Given the description of an element on the screen output the (x, y) to click on. 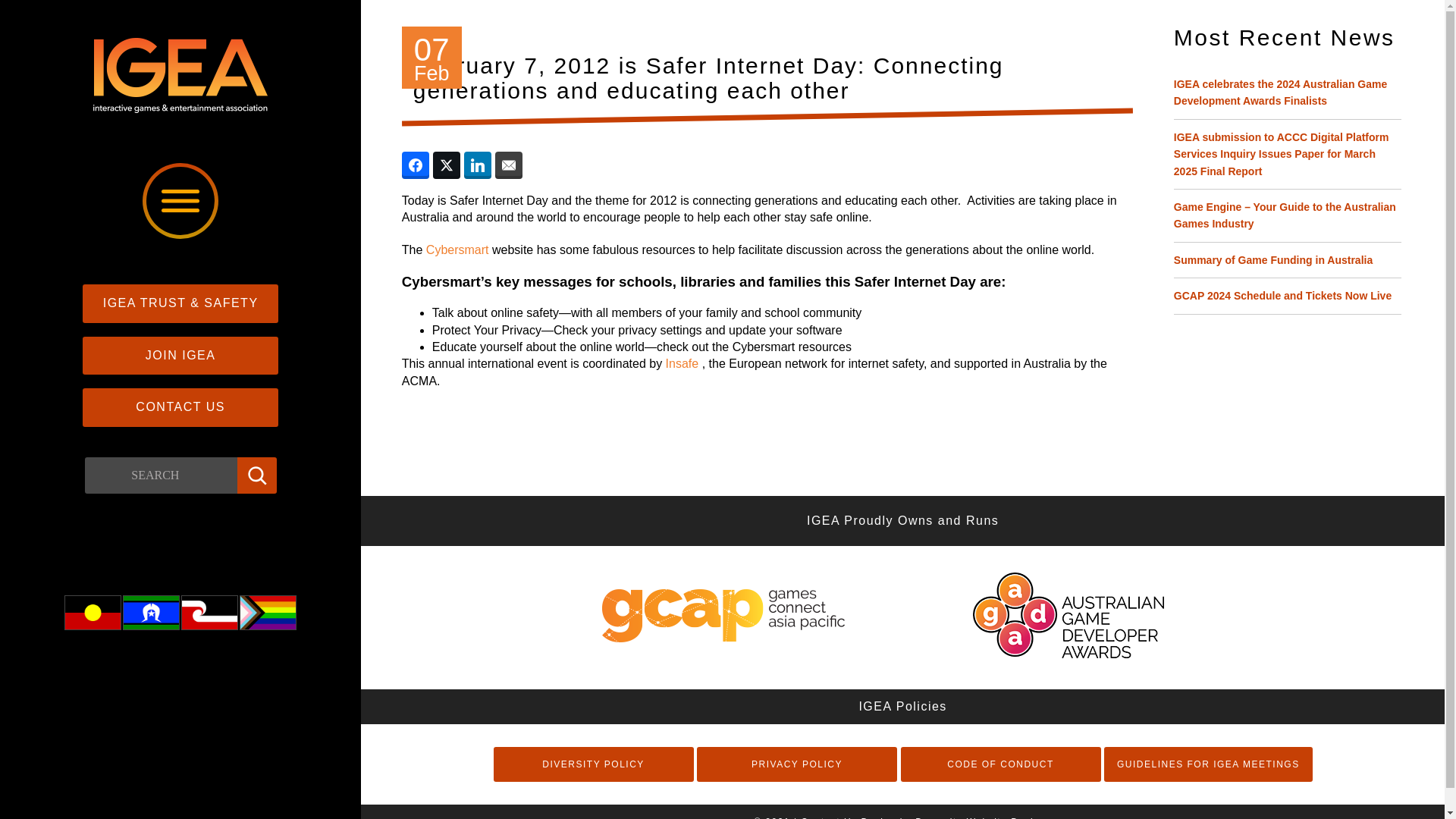
IGEA Home (180, 108)
test (92, 612)
Aboriginal (92, 612)
Contact Us (180, 406)
CONTACT US (180, 406)
Share on Twitter (446, 165)
YouTube (249, 547)
Share on Facebook (415, 165)
Torres Strait Islander (151, 612)
Share on LinkedIn (478, 165)
